Given the description of an element on the screen output the (x, y) to click on. 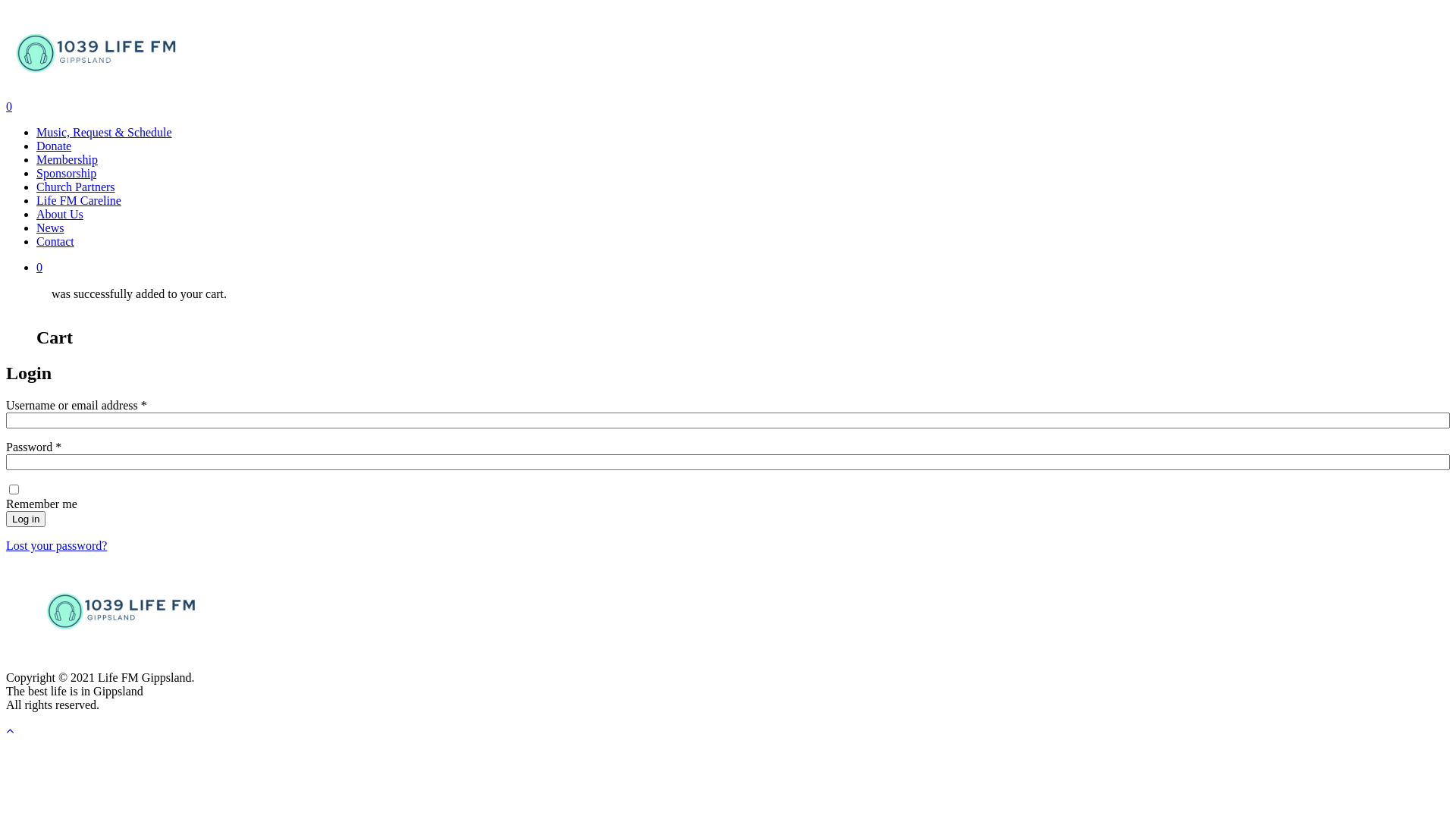
0 Element type: text (742, 267)
Music, Request & Schedule Element type: text (104, 131)
Sponsorship Element type: text (66, 172)
Life FM Careline Element type: text (78, 200)
Lost your password? Element type: text (56, 545)
Skip to main content Element type: text (5, 5)
Log in Element type: text (25, 519)
News Element type: text (49, 227)
0 Element type: text (727, 106)
Contact Element type: text (55, 241)
Donate Element type: text (53, 145)
Church Partners Element type: text (75, 186)
Membership Element type: text (66, 159)
About Us Element type: text (59, 213)
